Given the description of an element on the screen output the (x, y) to click on. 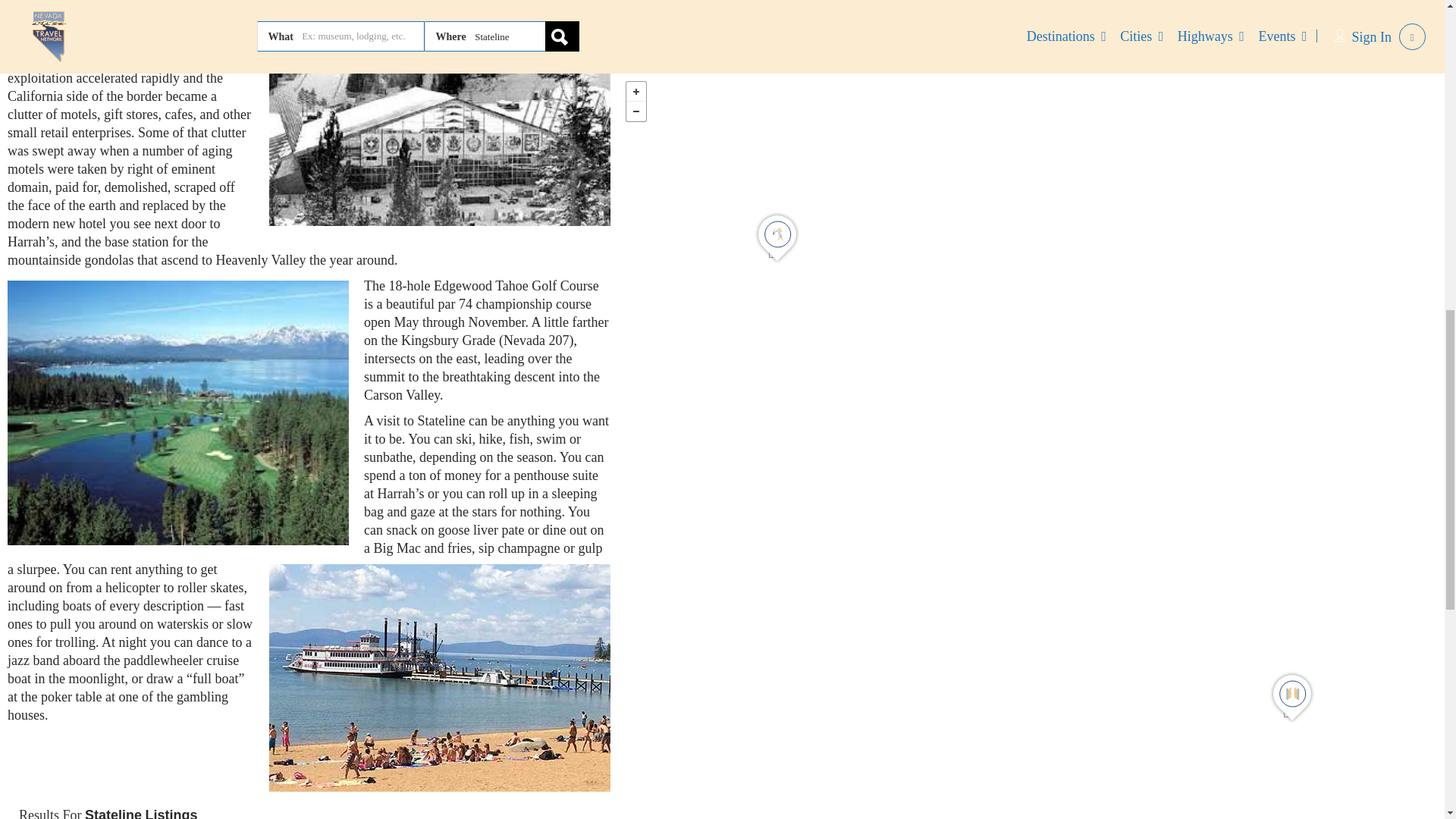
A JS library for interactive maps (1421, 62)
